Given the description of an element on the screen output the (x, y) to click on. 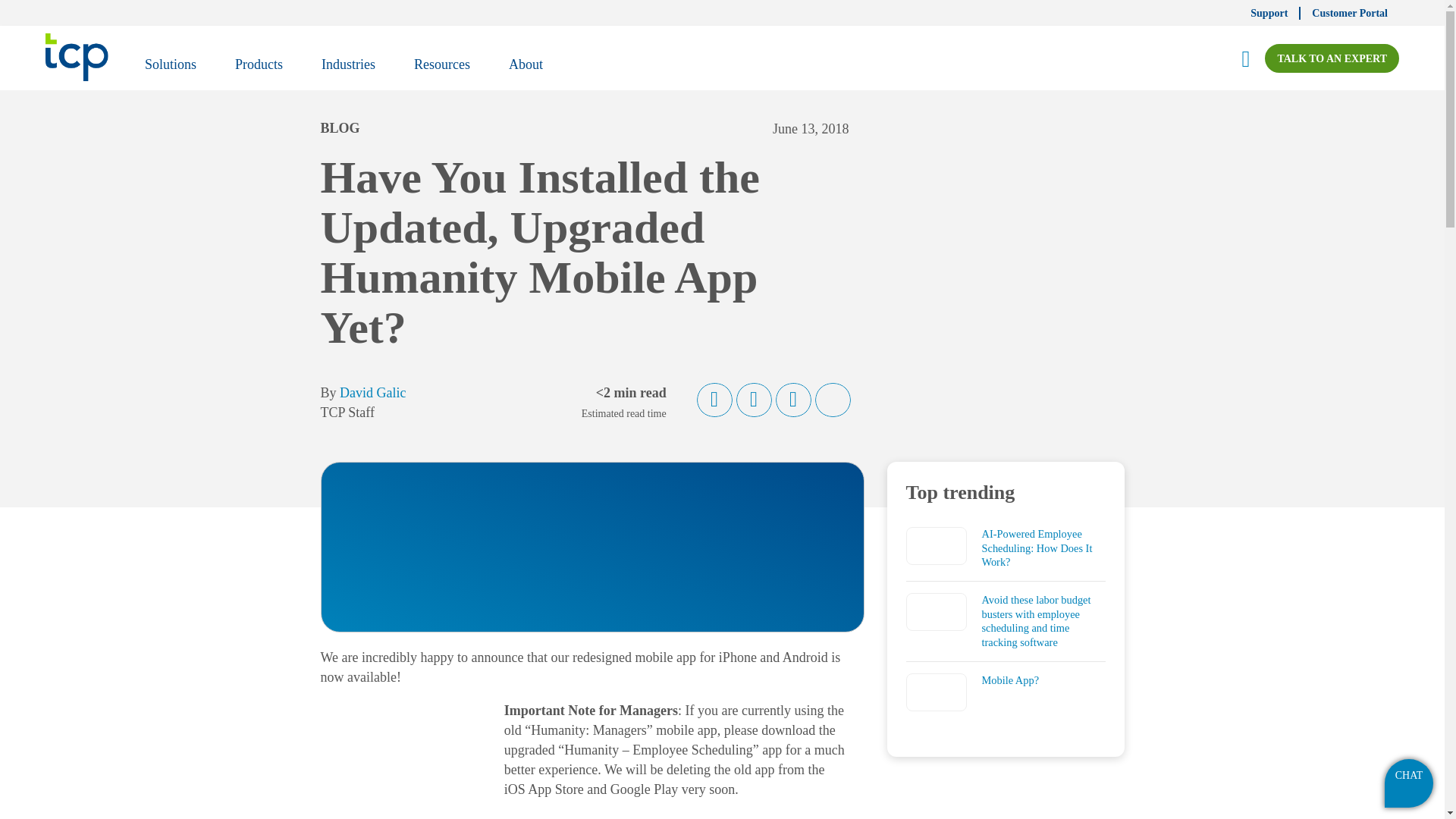
Mobile App? (935, 692)
img-responsive (400, 766)
AI-Powered Employee Scheduling: How Does It Work? (935, 546)
Resources (441, 67)
Industries (347, 67)
Customer Portal (1349, 12)
AI-Powered Employee Scheduling: How Does It Work? (1036, 547)
TCP Software (76, 57)
About (525, 67)
Solutions (170, 67)
Products (259, 67)
Mobile App? (1010, 680)
